Given the description of an element on the screen output the (x, y) to click on. 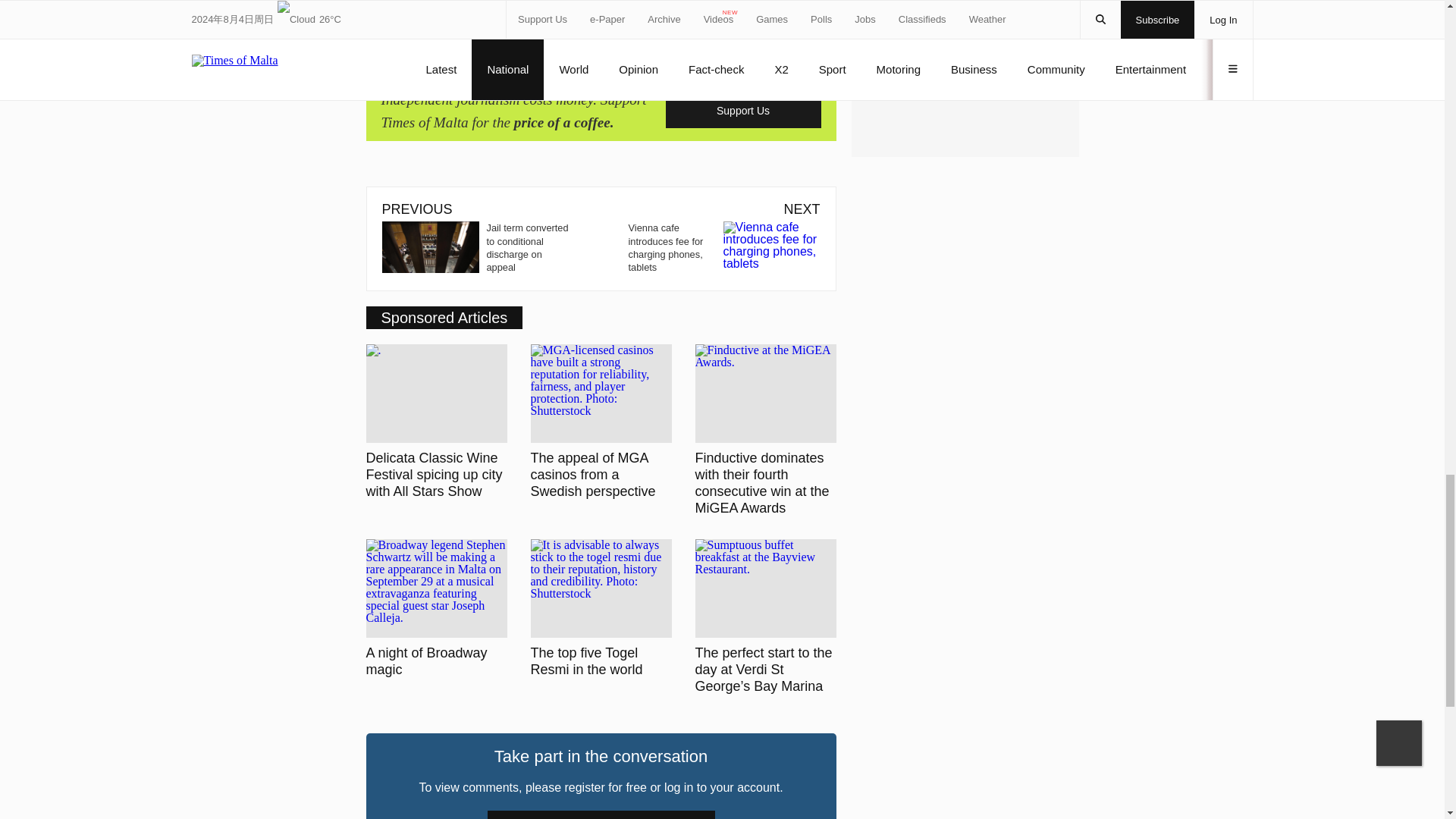
Support Us (743, 110)
